Given the description of an element on the screen output the (x, y) to click on. 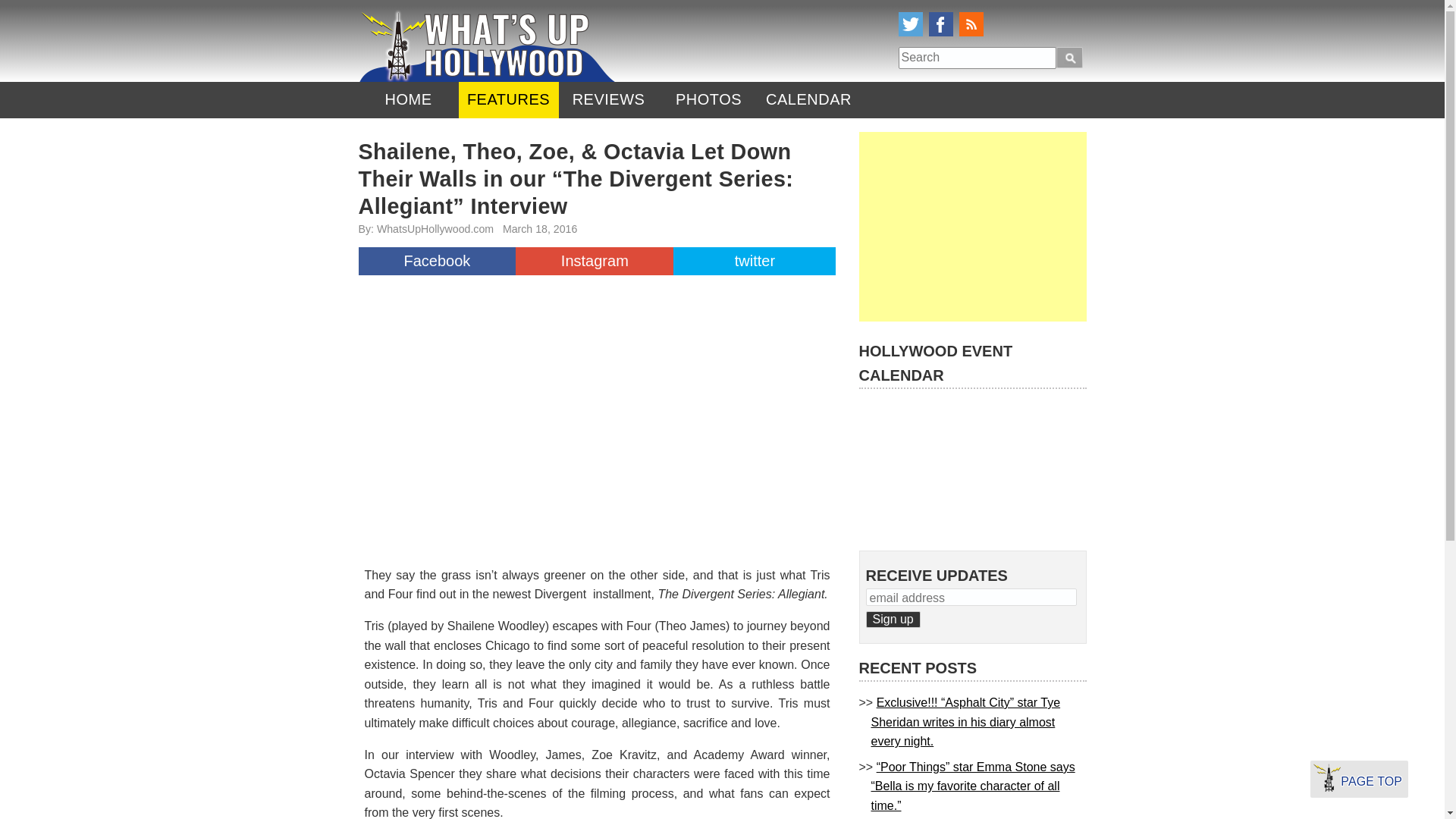
PHOTOS (708, 99)
Advertisement (972, 226)
CALENDAR (808, 99)
rss (971, 24)
Sign up (893, 619)
FEATURES (507, 99)
Sign up (893, 619)
HOME (408, 99)
Instagram (593, 261)
REVIEWS (607, 99)
